Given the description of an element on the screen output the (x, y) to click on. 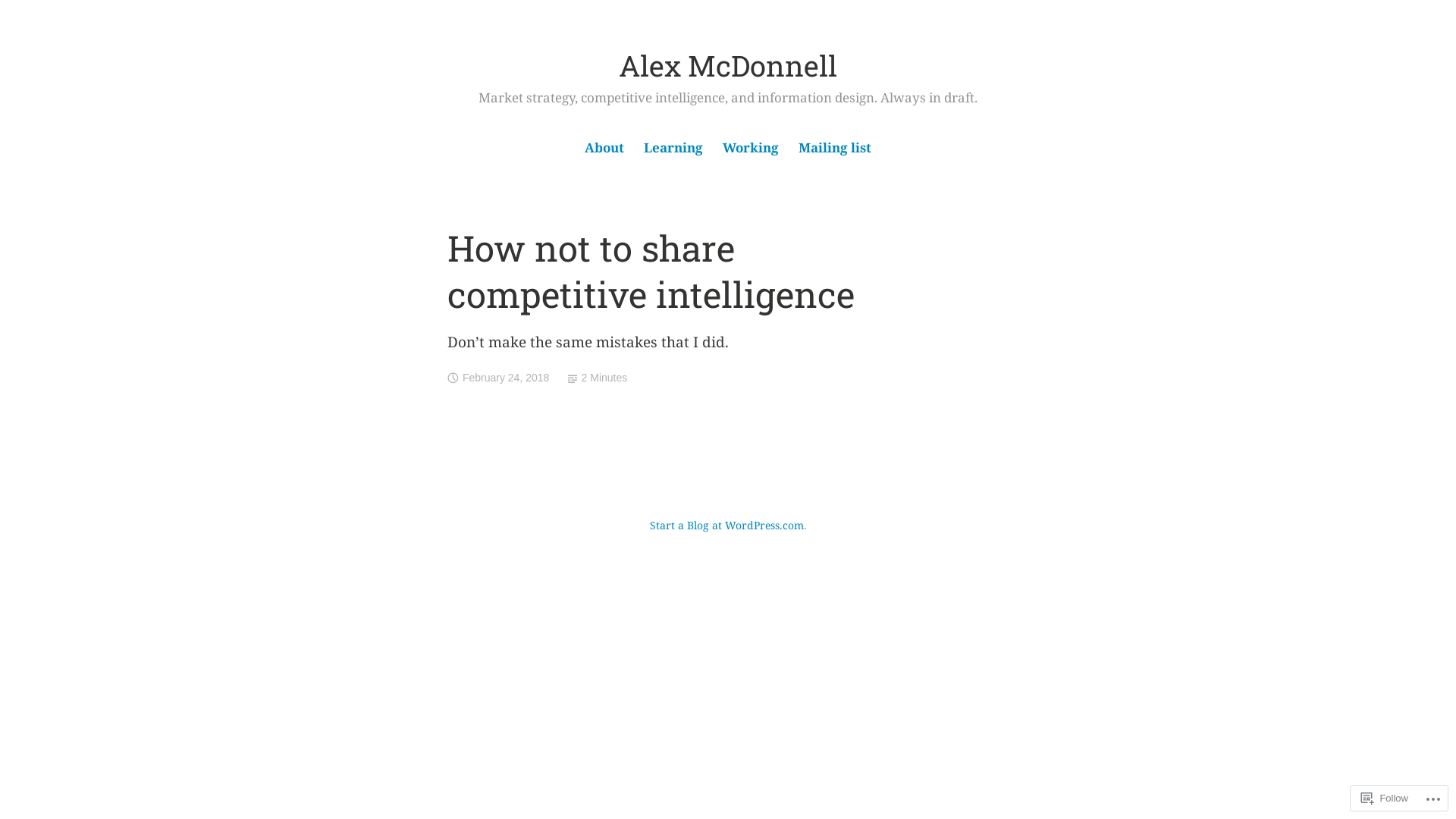
Alex McDonnell Element type: text (727, 65)
How not to share competitive intelligence Element type: text (650, 270)
Working Element type: text (750, 148)
February 24, 2018 Element type: text (505, 377)
Mailing list Element type: text (834, 148)
Follow Element type: text (1384, 797)
About Element type: text (604, 148)
Learning Element type: text (672, 148)
Start a Blog at WordPress.com Element type: text (726, 524)
